Given the description of an element on the screen output the (x, y) to click on. 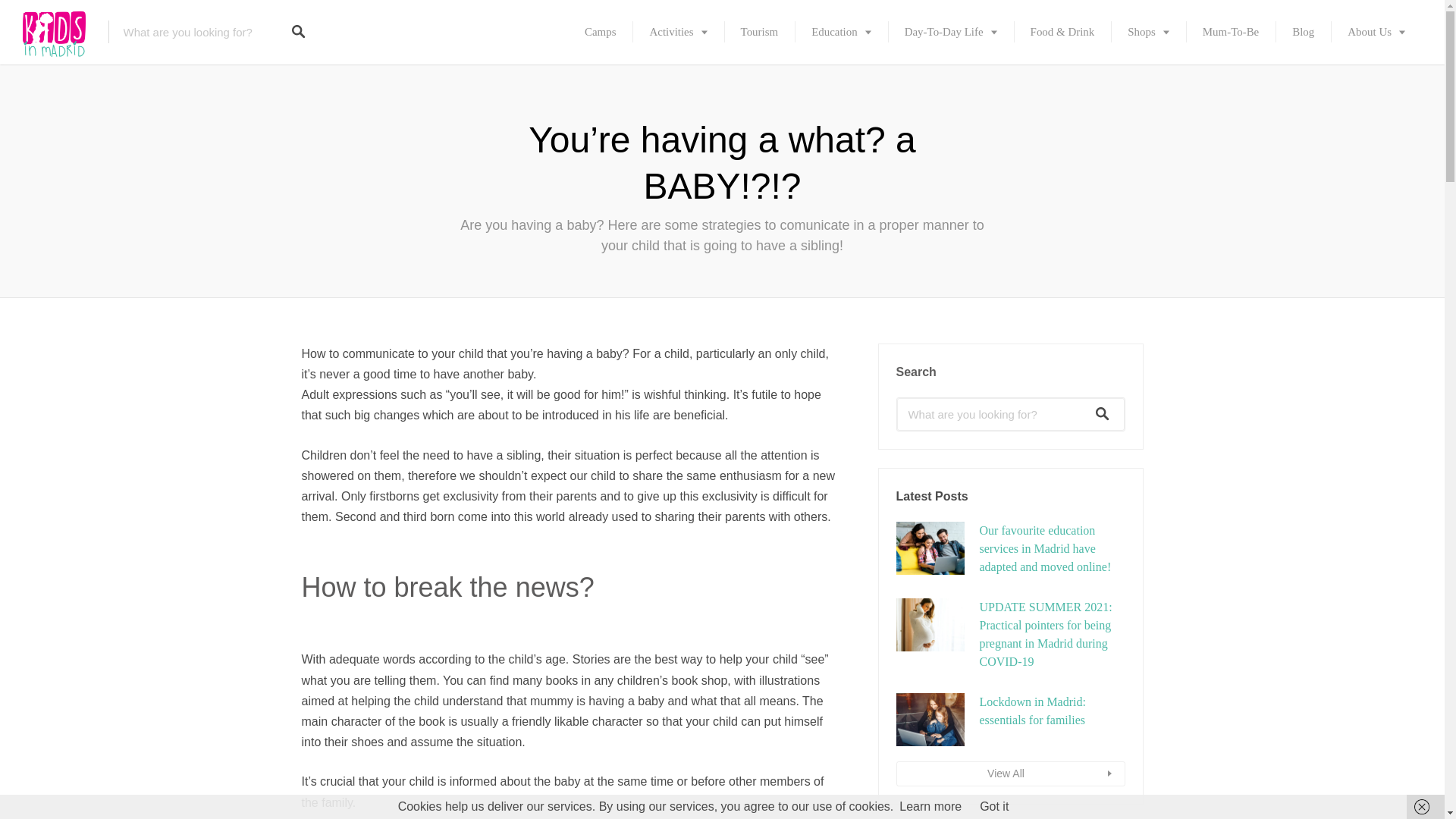
Education (841, 31)
About Us (1376, 31)
Tourism (758, 31)
Day-To-Day Life (950, 31)
Mum-To-Be (1230, 31)
Blog (1302, 31)
Shops (1148, 31)
Camps (600, 31)
Activities (677, 31)
